Given the description of an element on the screen output the (x, y) to click on. 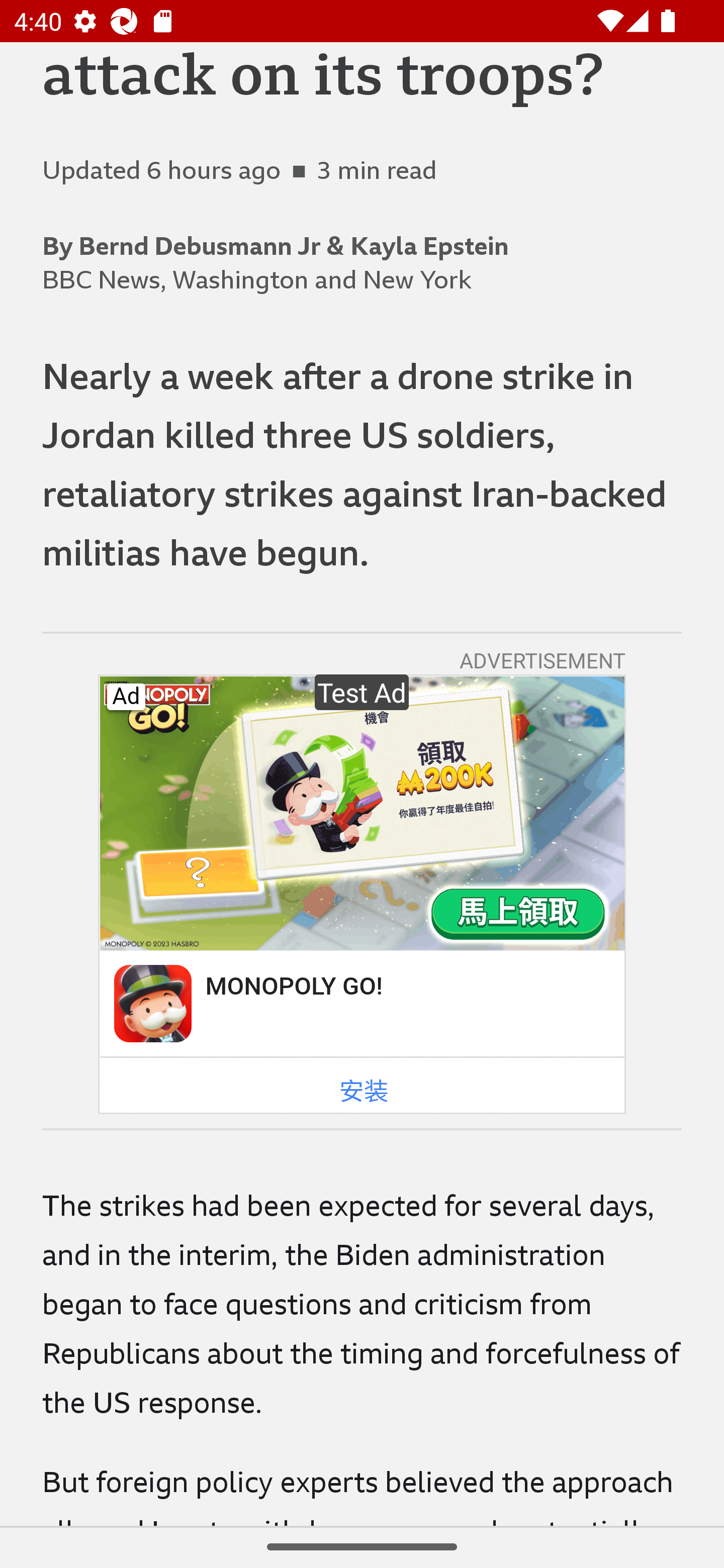
MONOPOLY GO! (292, 985)
安装 (363, 1092)
